Given the description of an element on the screen output the (x, y) to click on. 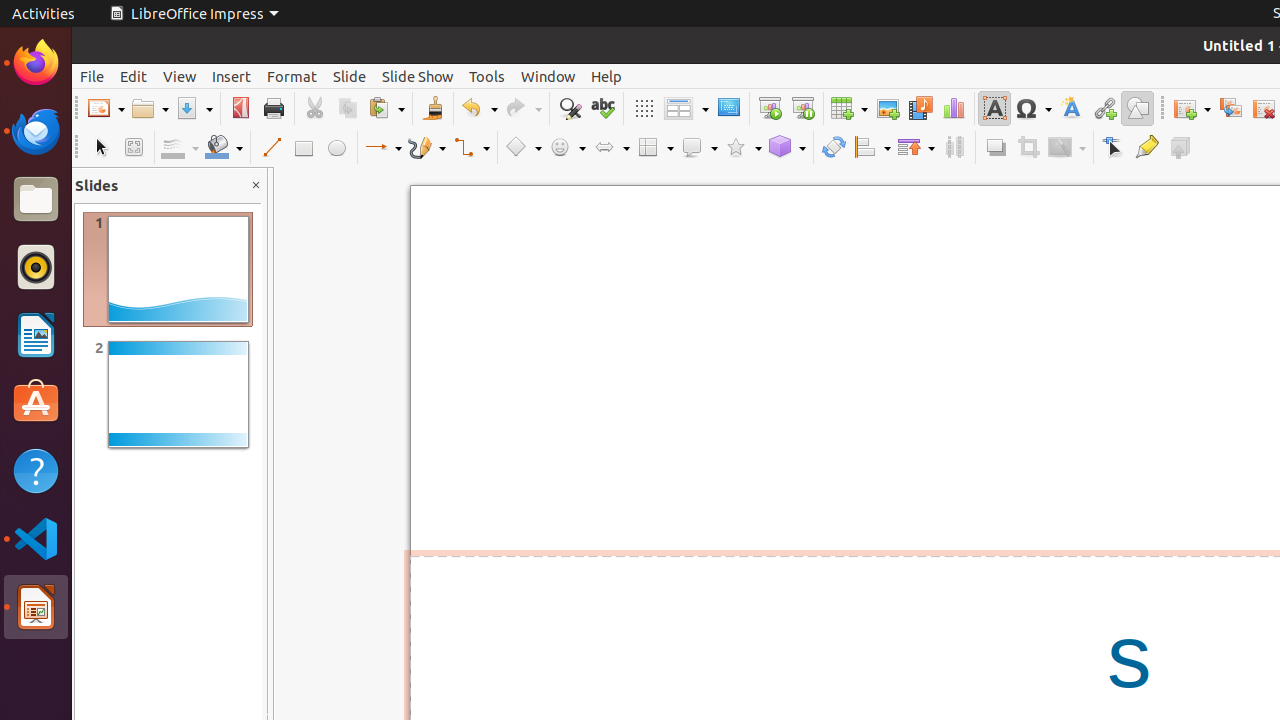
Spelling Element type: push-button (602, 108)
Fill Color Element type: push-button (224, 147)
Symbol Element type: push-button (1033, 108)
Curves and Polygons Element type: push-button (427, 147)
Line Element type: push-button (270, 147)
